Given the description of an element on the screen output the (x, y) to click on. 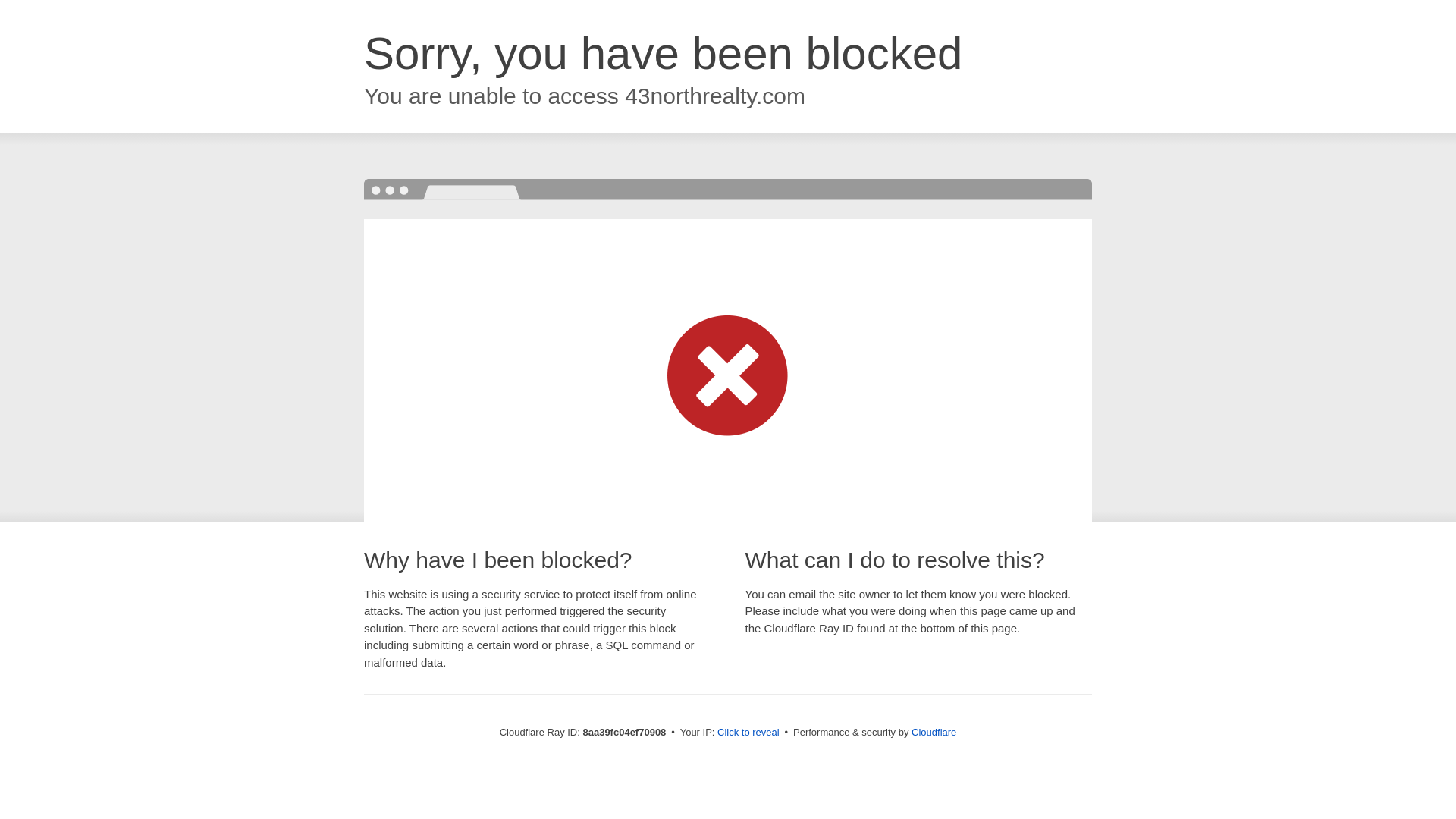
Cloudflare (933, 731)
Click to reveal (747, 732)
